Given the description of an element on the screen output the (x, y) to click on. 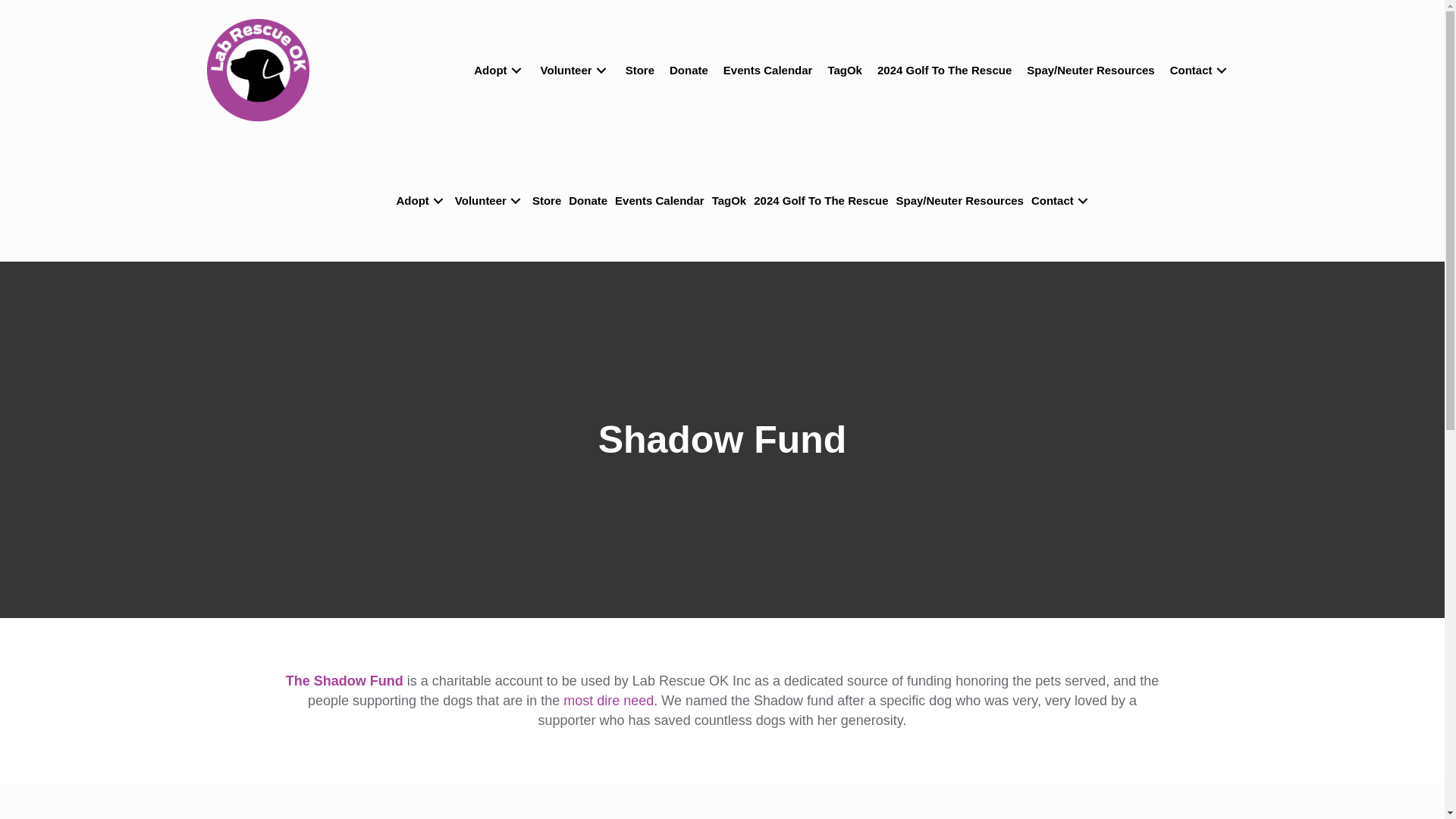
Contact (1204, 70)
Donate (692, 70)
2024 Golf To The Rescue (948, 70)
cropped-logo.png (257, 69)
TagOk (848, 70)
Volunteer (578, 70)
Store (644, 70)
Events Calendar (772, 70)
Adopt (503, 70)
